Given the description of an element on the screen output the (x, y) to click on. 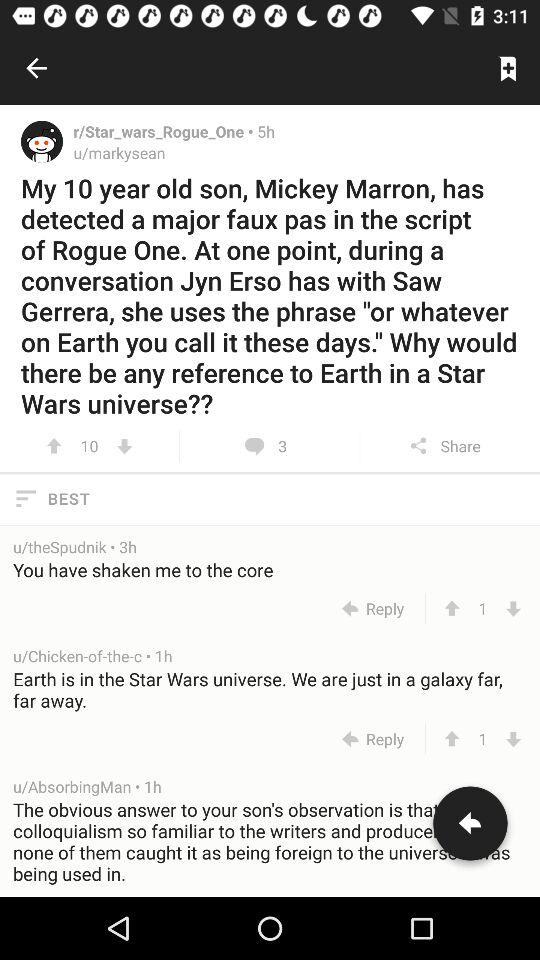
select the item next to the 5h item (165, 131)
